Given the description of an element on the screen output the (x, y) to click on. 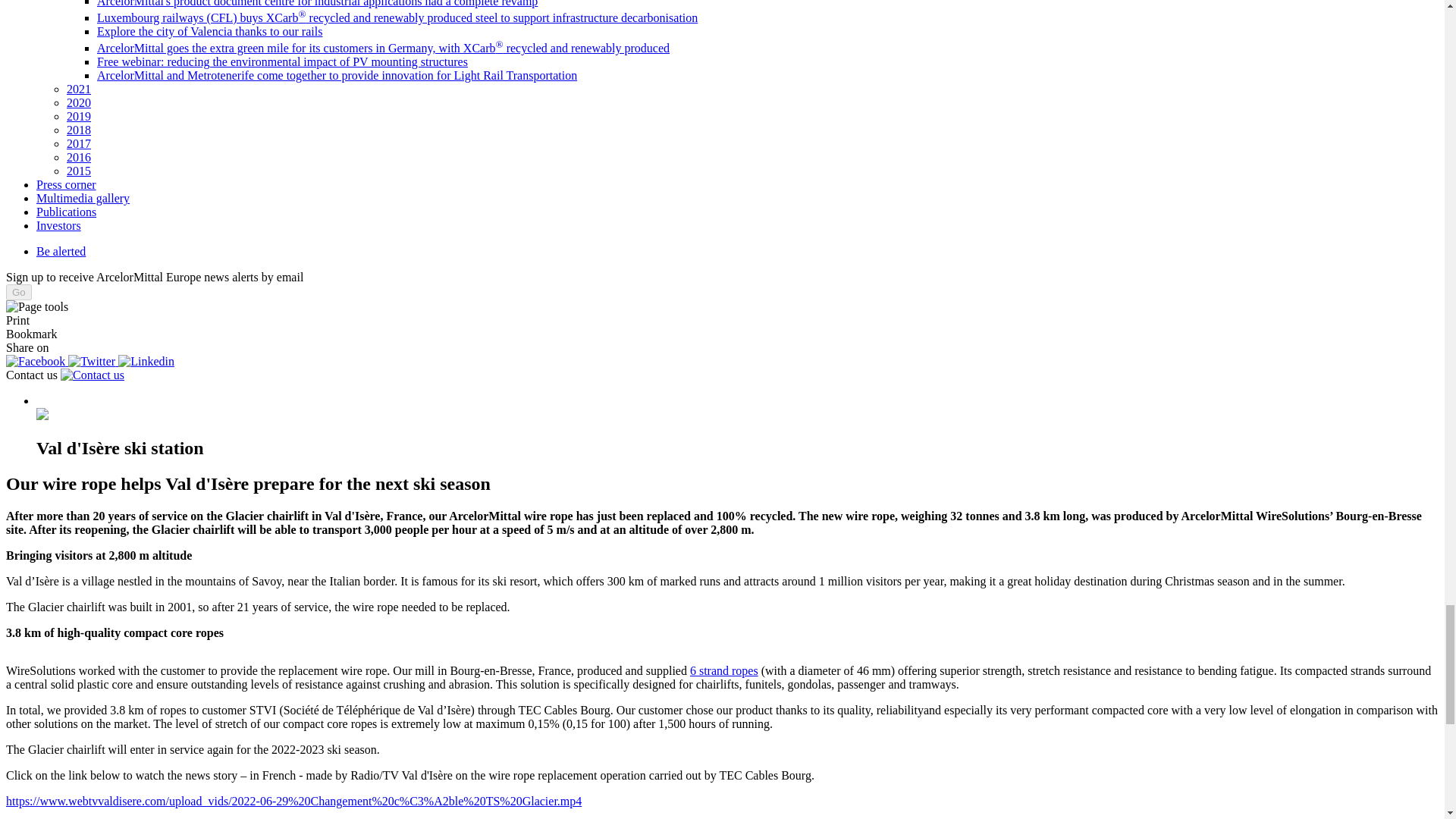
Go (18, 292)
